Given the description of an element on the screen output the (x, y) to click on. 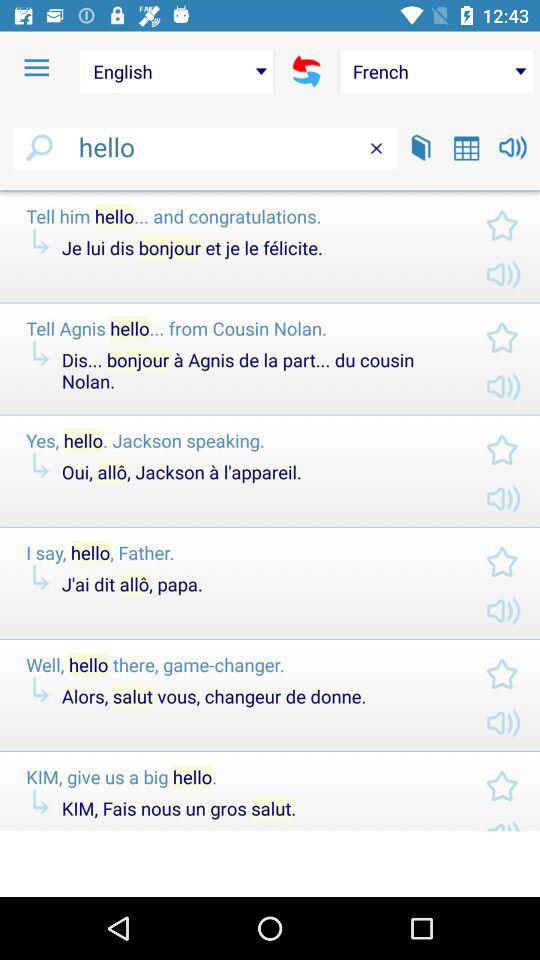
click the icon below the hello (270, 190)
